Given the description of an element on the screen output the (x, y) to click on. 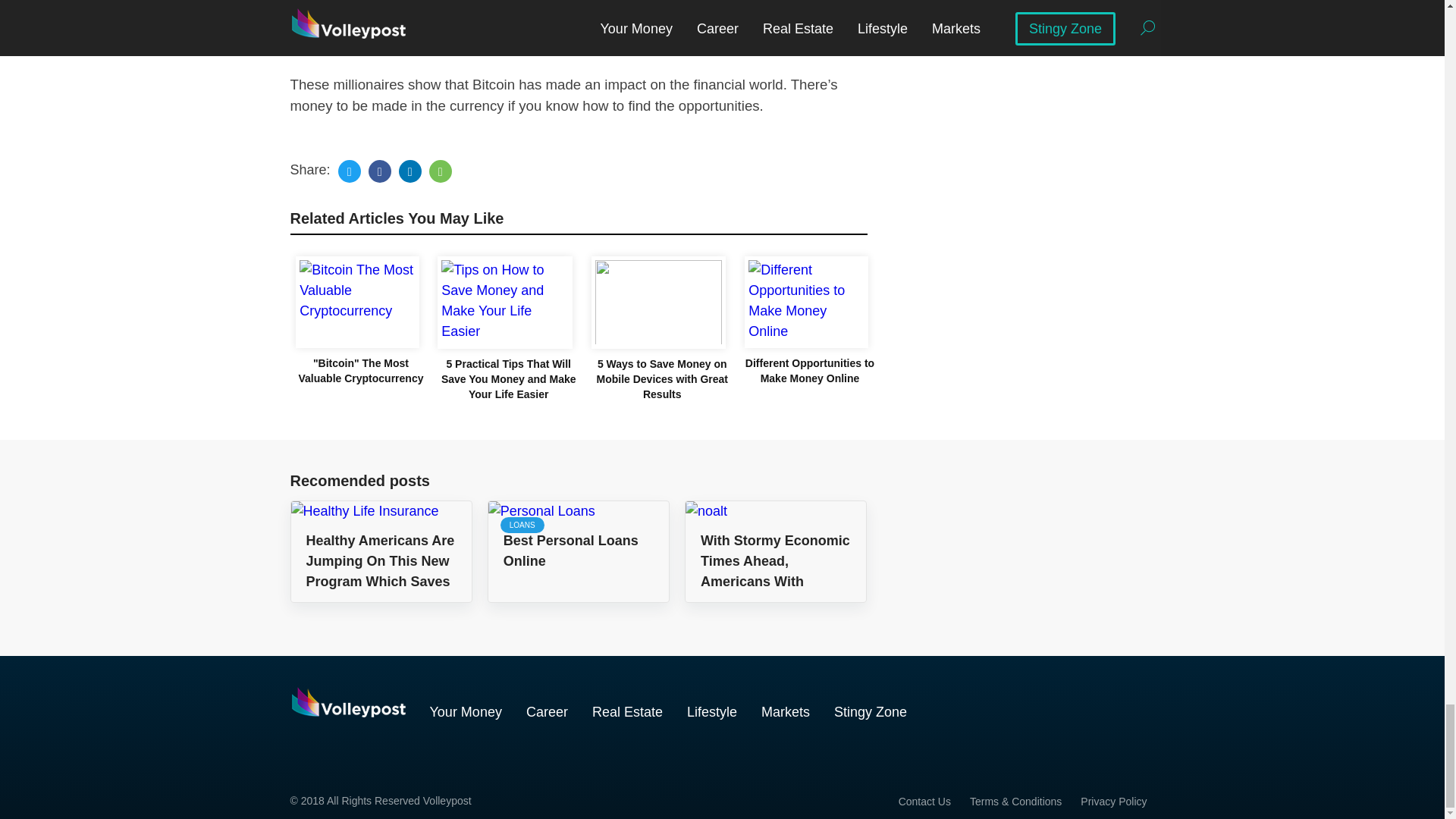
Share on Twitter (349, 170)
Share on LinkedIn. (410, 170)
show all posts in Loans (522, 524)
Share on Facebook. (379, 170)
Share by Email (440, 170)
